Given the description of an element on the screen output the (x, y) to click on. 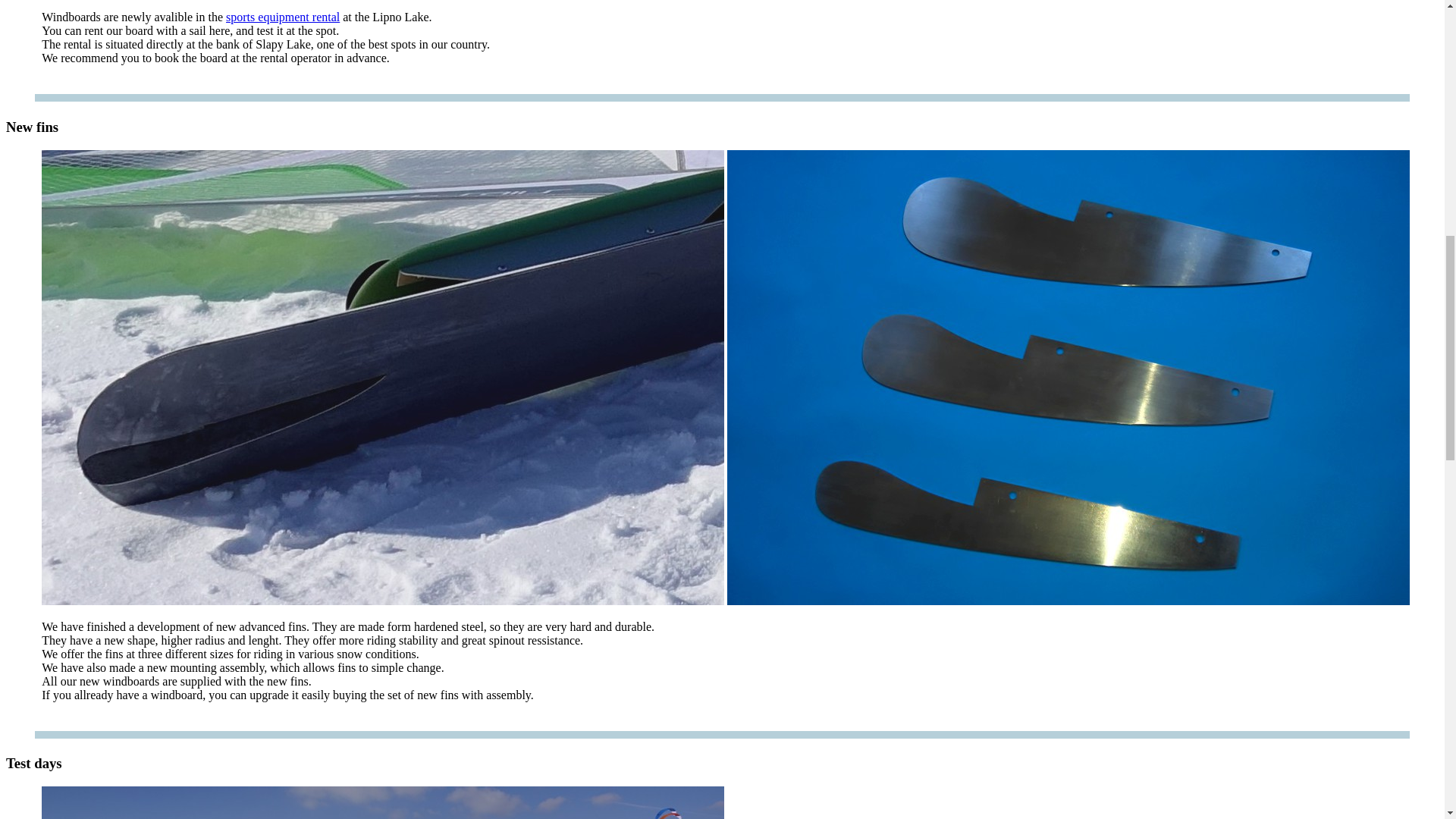
sports equipment rental (282, 16)
